Given the description of an element on the screen output the (x, y) to click on. 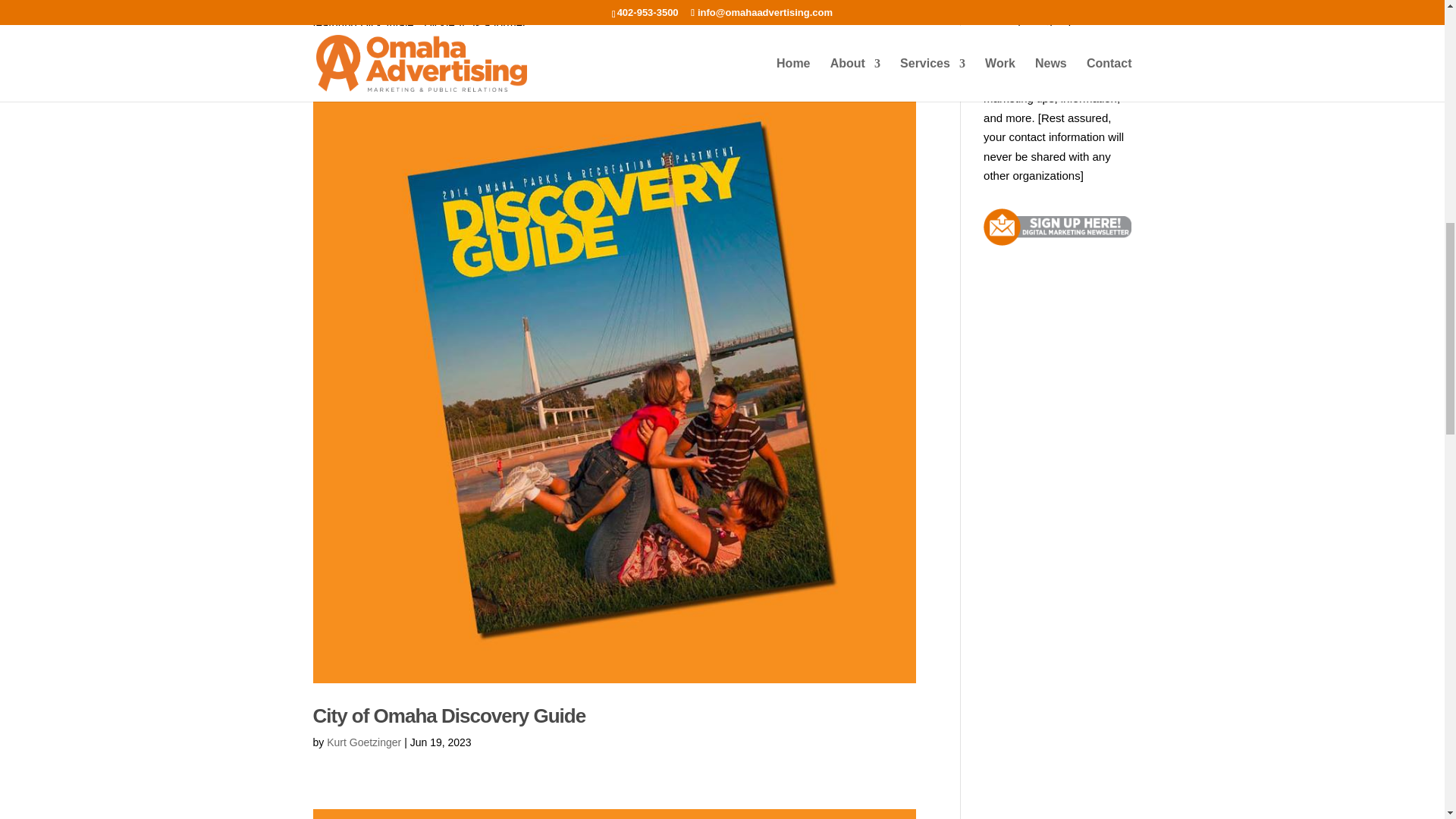
City of Omaha Discovery Guide (449, 715)
Posts by Kurt Goetzinger (363, 742)
Kurt Goetzinger (363, 742)
